Given the description of an element on the screen output the (x, y) to click on. 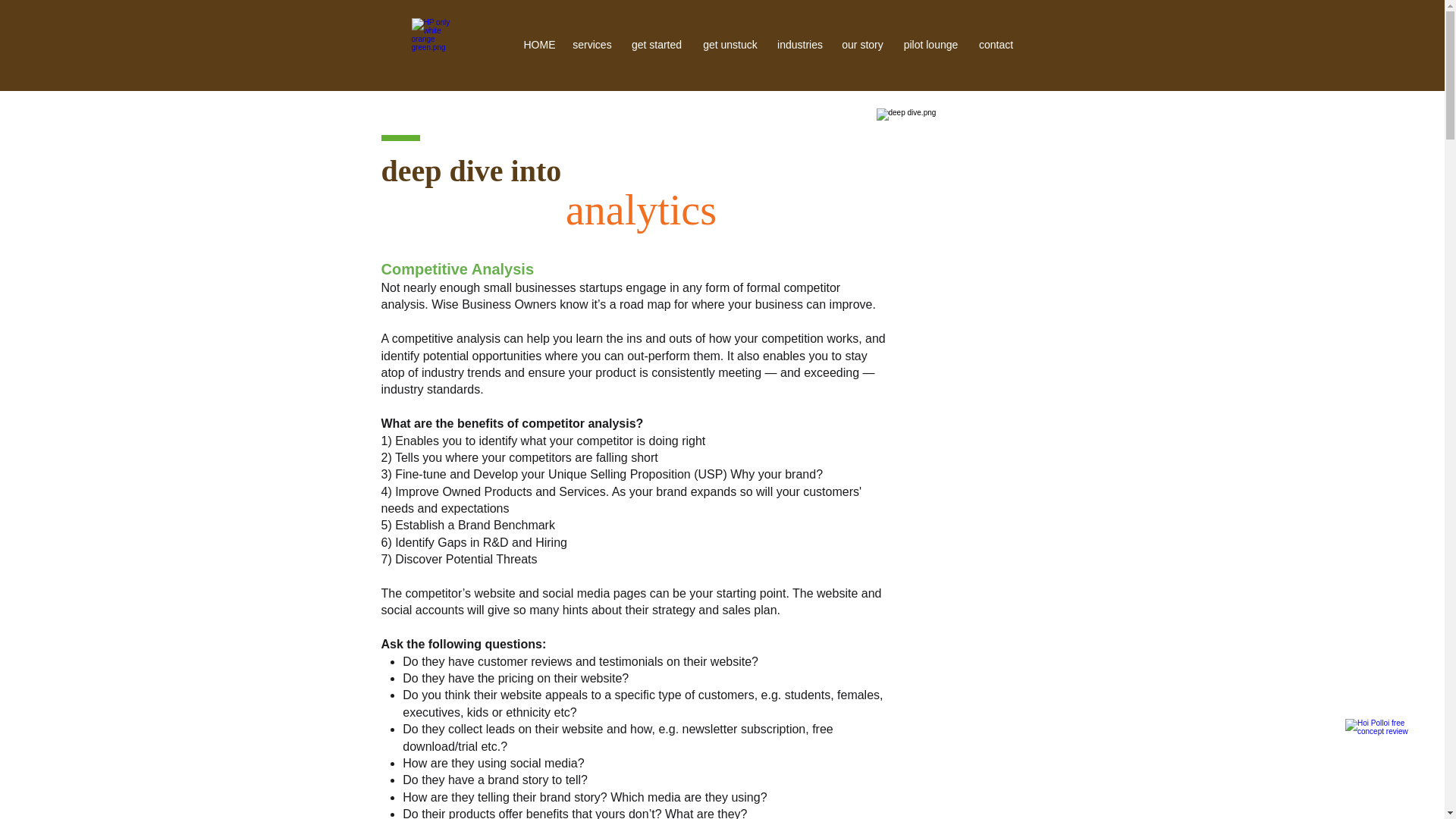
services (592, 44)
get started (656, 44)
our story (862, 44)
What are the benefits of competitor analysis? (511, 422)
HP only white w greren outline rgb.png (437, 45)
HOME (539, 44)
pilot lounge (931, 44)
contact (996, 44)
get unstuck (730, 44)
industries (799, 44)
